Given the description of an element on the screen output the (x, y) to click on. 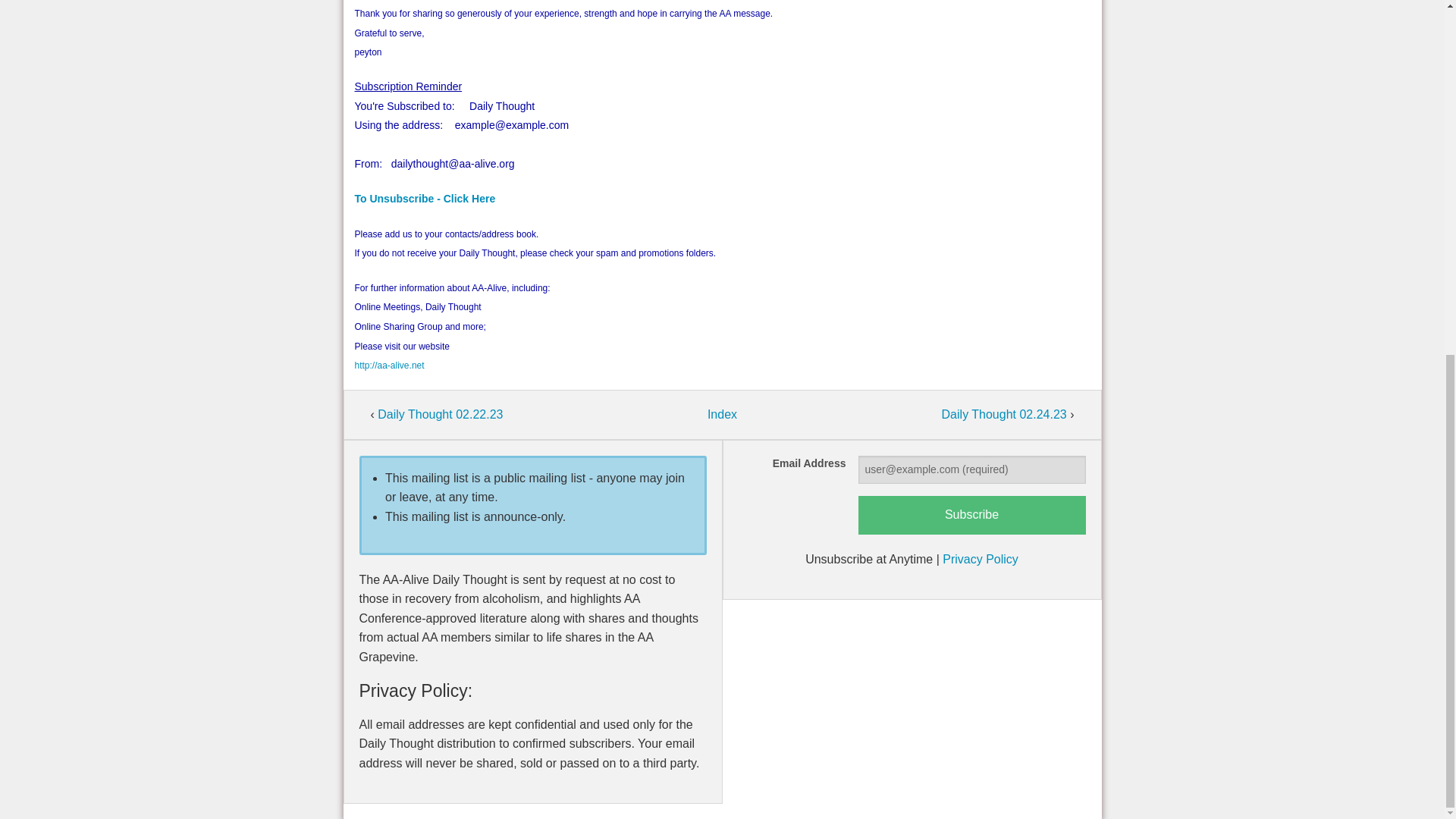
Subscribe (972, 515)
Subscribe (972, 515)
Privacy Policy (979, 558)
To Unsubscribe - Click Here (425, 198)
Daily Thought 02.22.23 (439, 413)
Index (721, 413)
Daily Thought 02.24.23 (1006, 413)
